Given the description of an element on the screen output the (x, y) to click on. 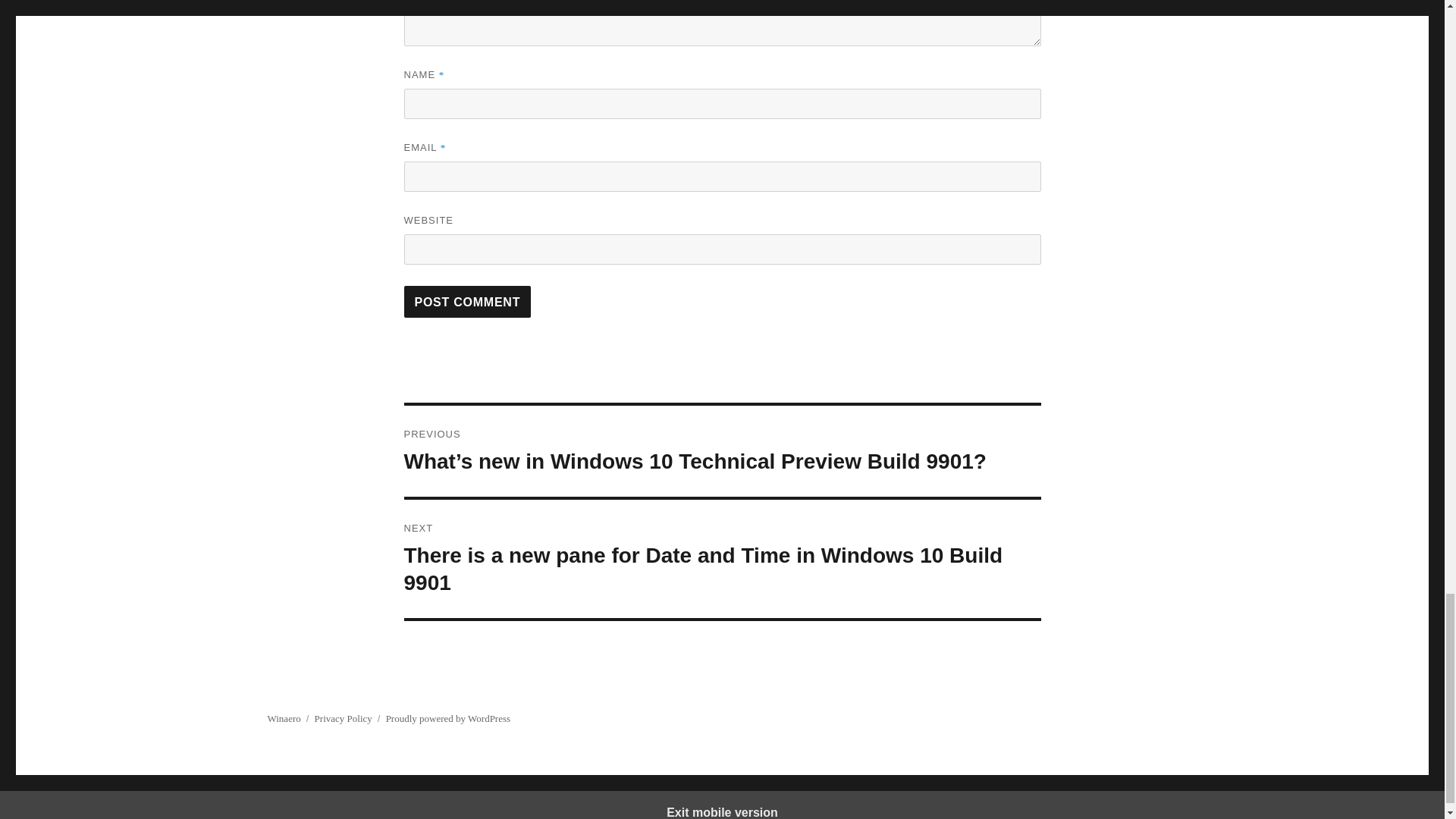
Post Comment (467, 301)
Privacy Policy (343, 717)
Post Comment (467, 301)
Winaero (282, 717)
Proudly powered by WordPress (448, 717)
